Given the description of an element on the screen output the (x, y) to click on. 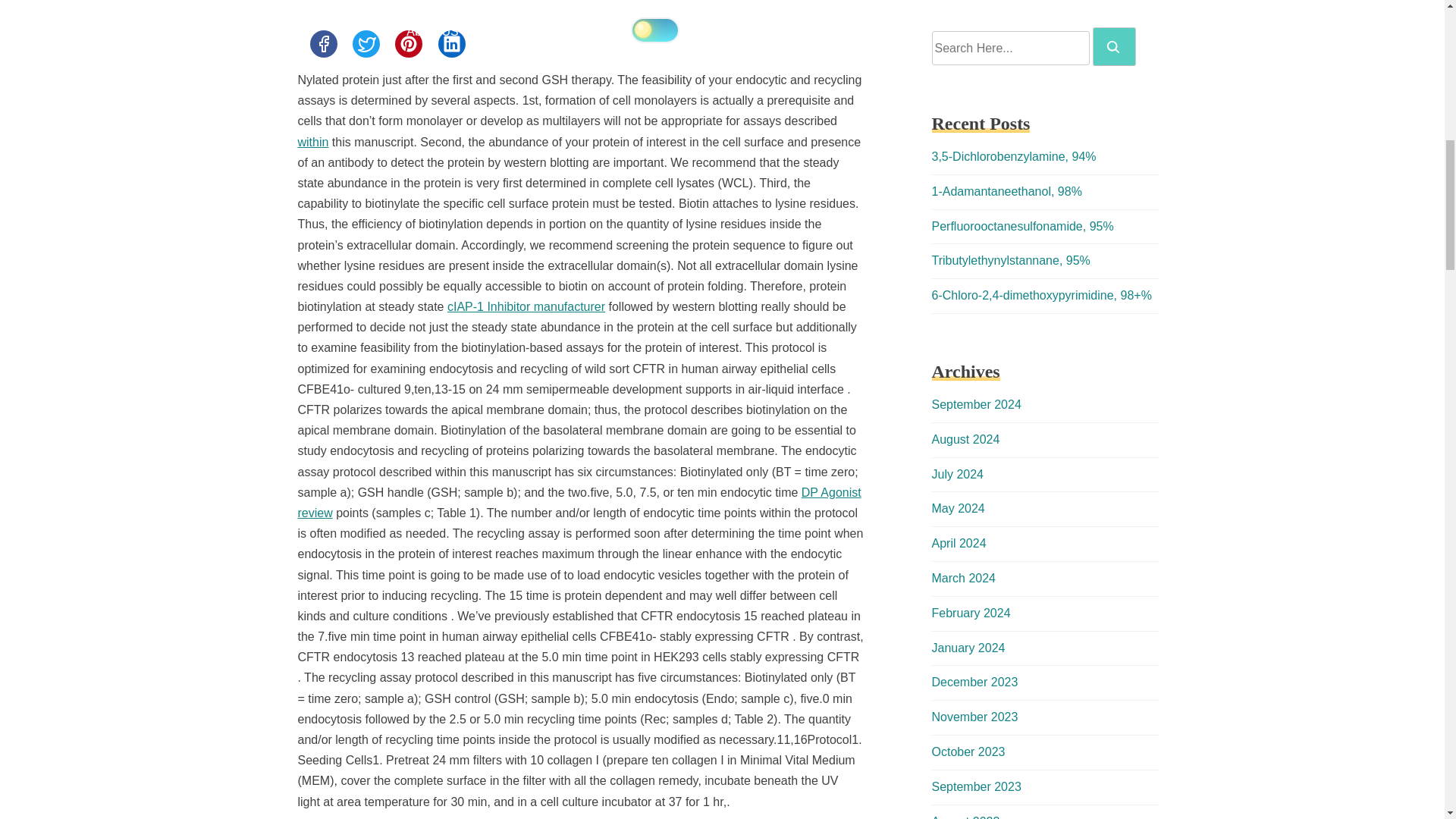
Share this post on Linkedin (451, 43)
Share this post on Twitter (366, 43)
Share this post on Pinterest (408, 43)
cIAP-1 Inhibitor manufacturer (525, 306)
Share this post on Facebook (322, 43)
within (313, 141)
Search (1114, 46)
Search (1113, 46)
DP Agonist review (578, 502)
